Given the description of an element on the screen output the (x, y) to click on. 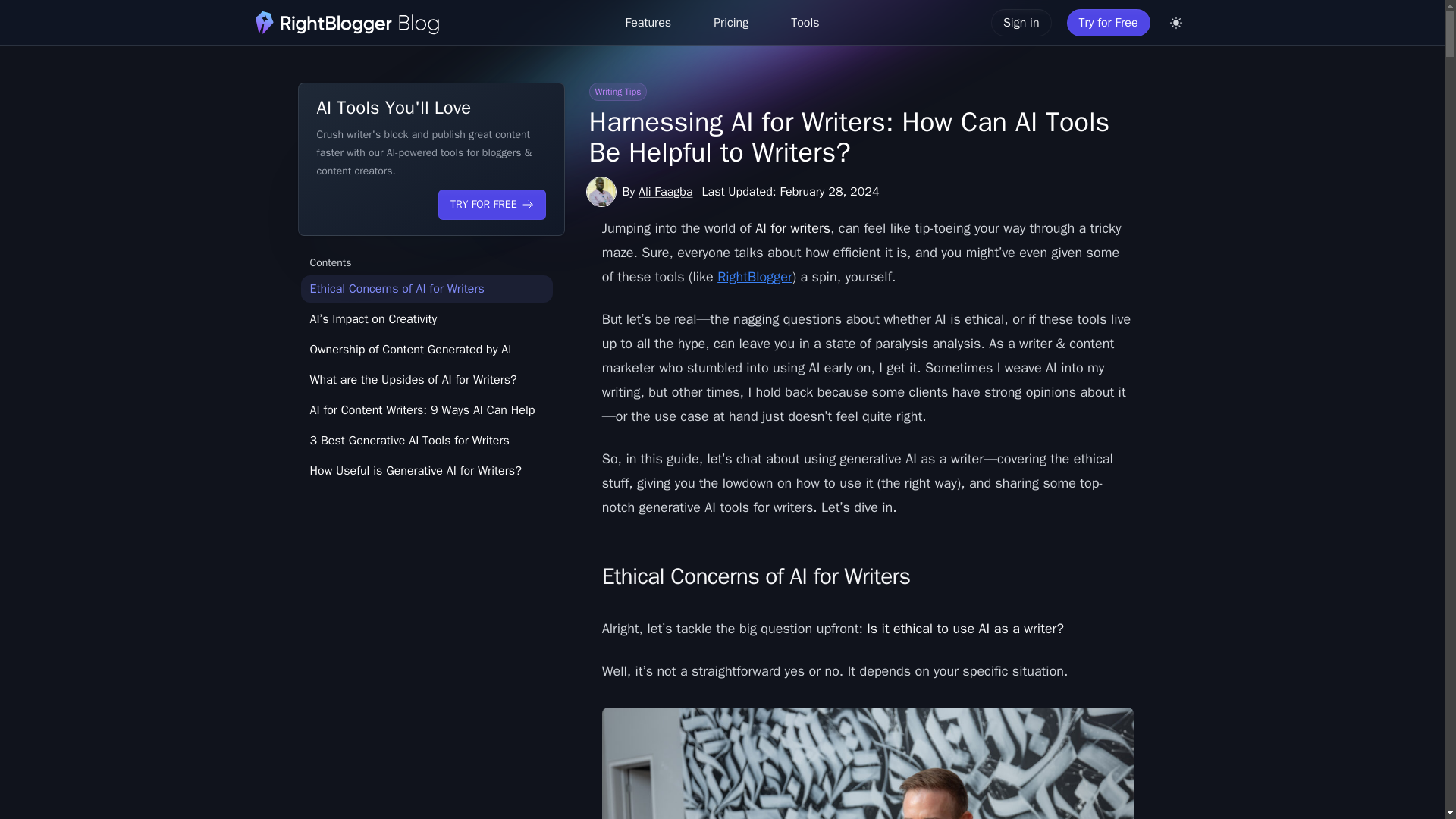
Pricing (730, 22)
How Useful is Generative AI for Writers? (425, 470)
Tools (805, 22)
2024-02-28T15:33:05 (790, 191)
AI for Content Writers: 9 Ways AI Can Help (425, 410)
Ali Faagba (666, 191)
Sign in (1021, 22)
RightBlogger (754, 276)
Ethical Concerns of AI for Writers (425, 288)
What are the Upsides of AI for Writers? (425, 379)
Try for Free (1108, 22)
Features (647, 22)
Ownership of Content Generated by AI (425, 349)
TRY FOR FREE (492, 204)
3 Best Generative AI Tools for Writers (425, 440)
